Given the description of an element on the screen output the (x, y) to click on. 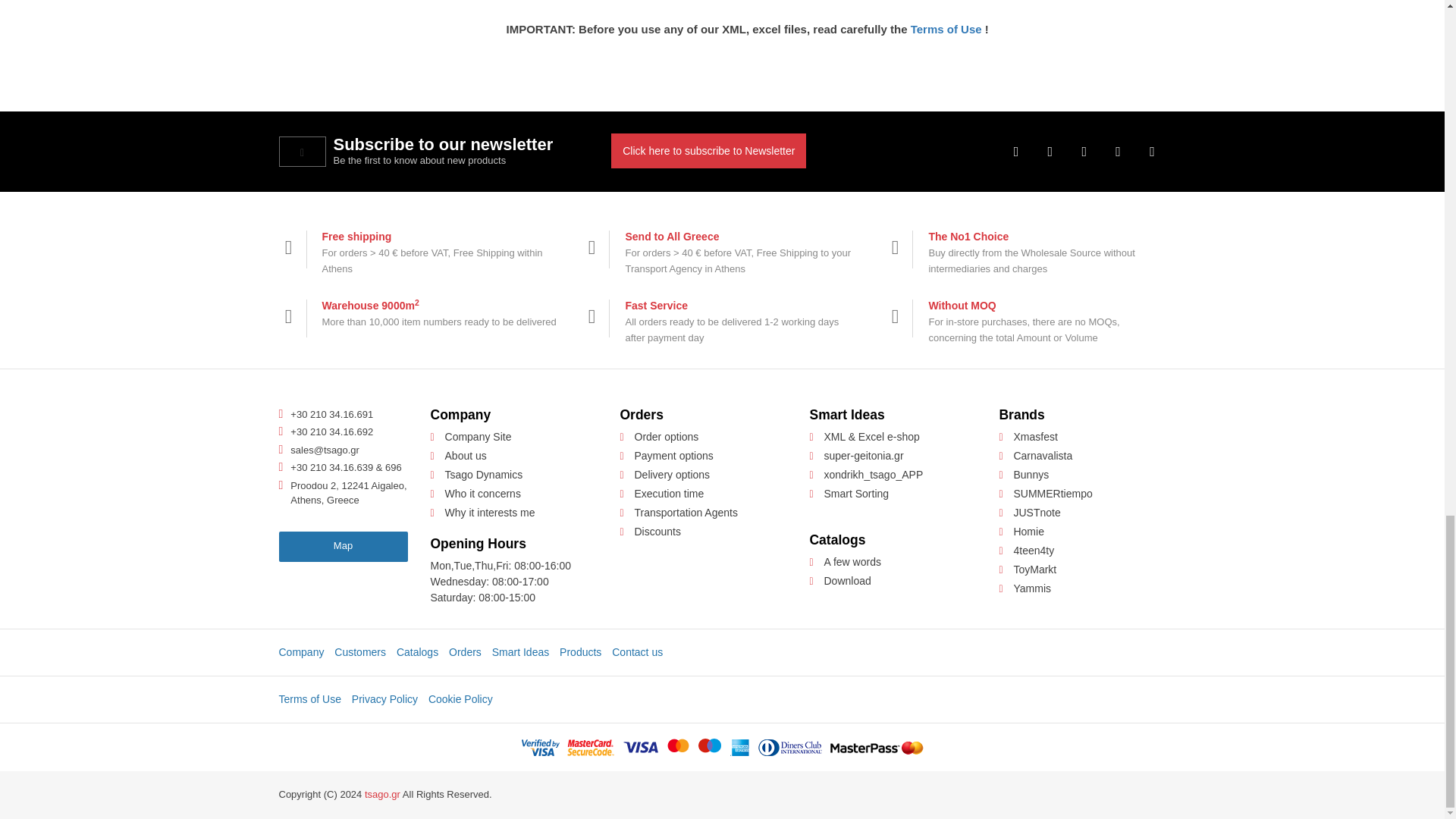
Wholesale Pinterest (1118, 151)
Wholesale Twitter (1050, 151)
Terms of Use (946, 29)
Wholesale Facebook (1016, 151)
Wholesale Youtube (1152, 151)
Wholesale Instagram (1083, 151)
